Given the description of an element on the screen output the (x, y) to click on. 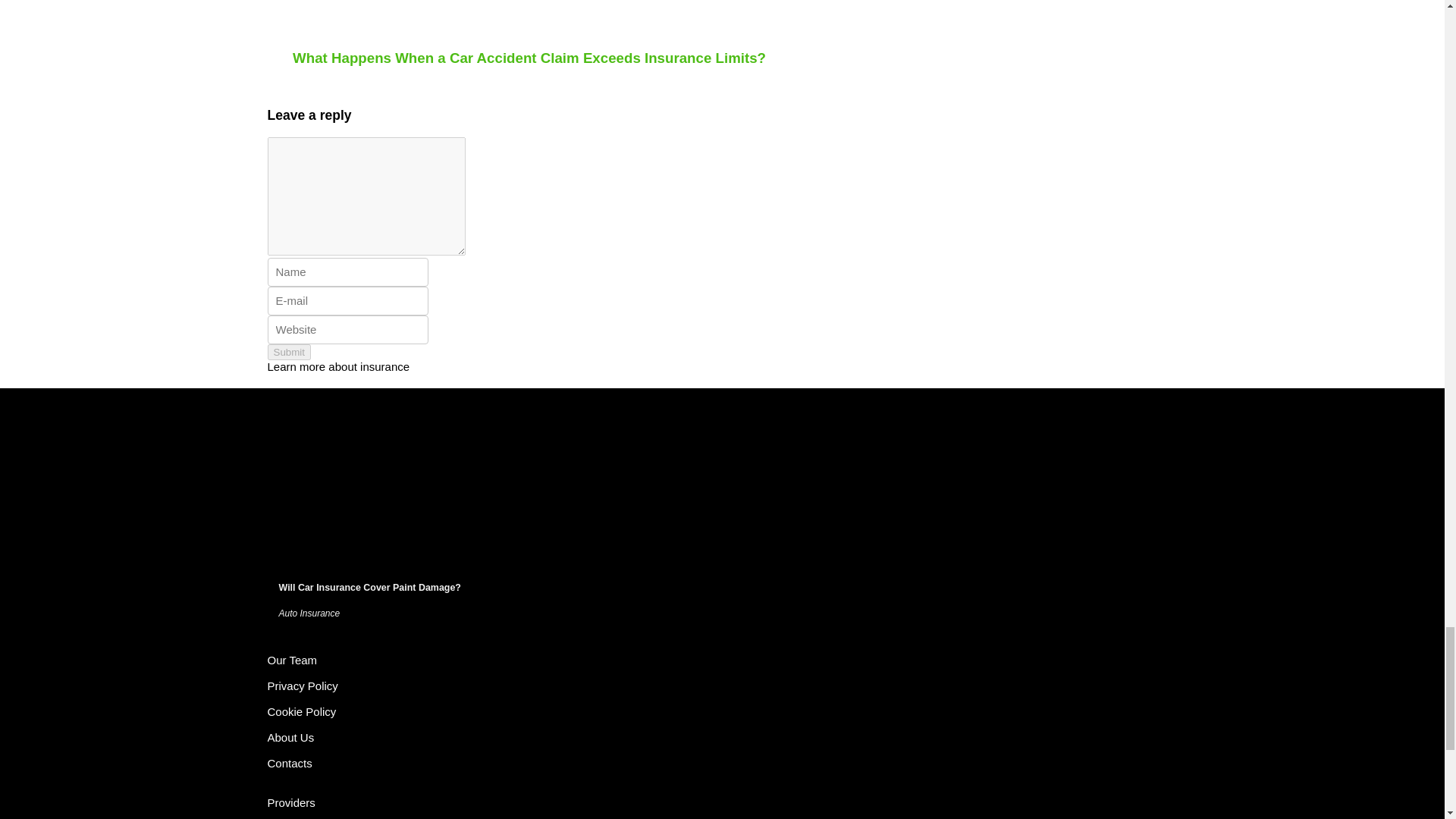
Terms (291, 659)
Cookie Policy (301, 711)
Providers (290, 802)
About Us (290, 737)
Submit (288, 351)
Privacy Policy (301, 685)
